Given the description of an element on the screen output the (x, y) to click on. 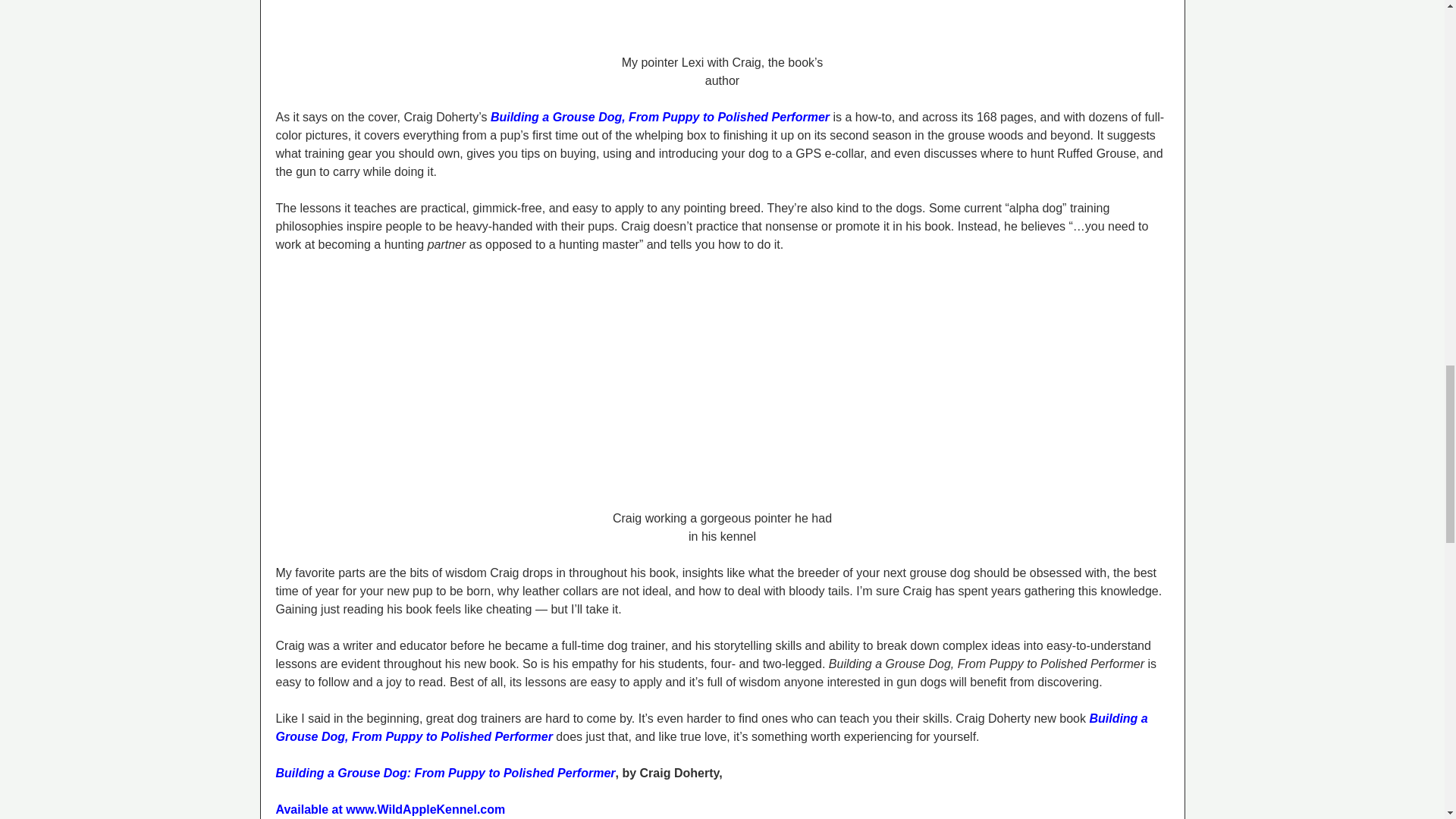
Building a Grouse Dog, From Puppy to Polished Performer (659, 116)
Building a Grouse Dog: From Puppy to Polished Performer (445, 772)
Building a Grouse Dog, From Puppy to Polished Performer (712, 726)
Available at www.WildAppleKennel.com (390, 809)
